Given the description of an element on the screen output the (x, y) to click on. 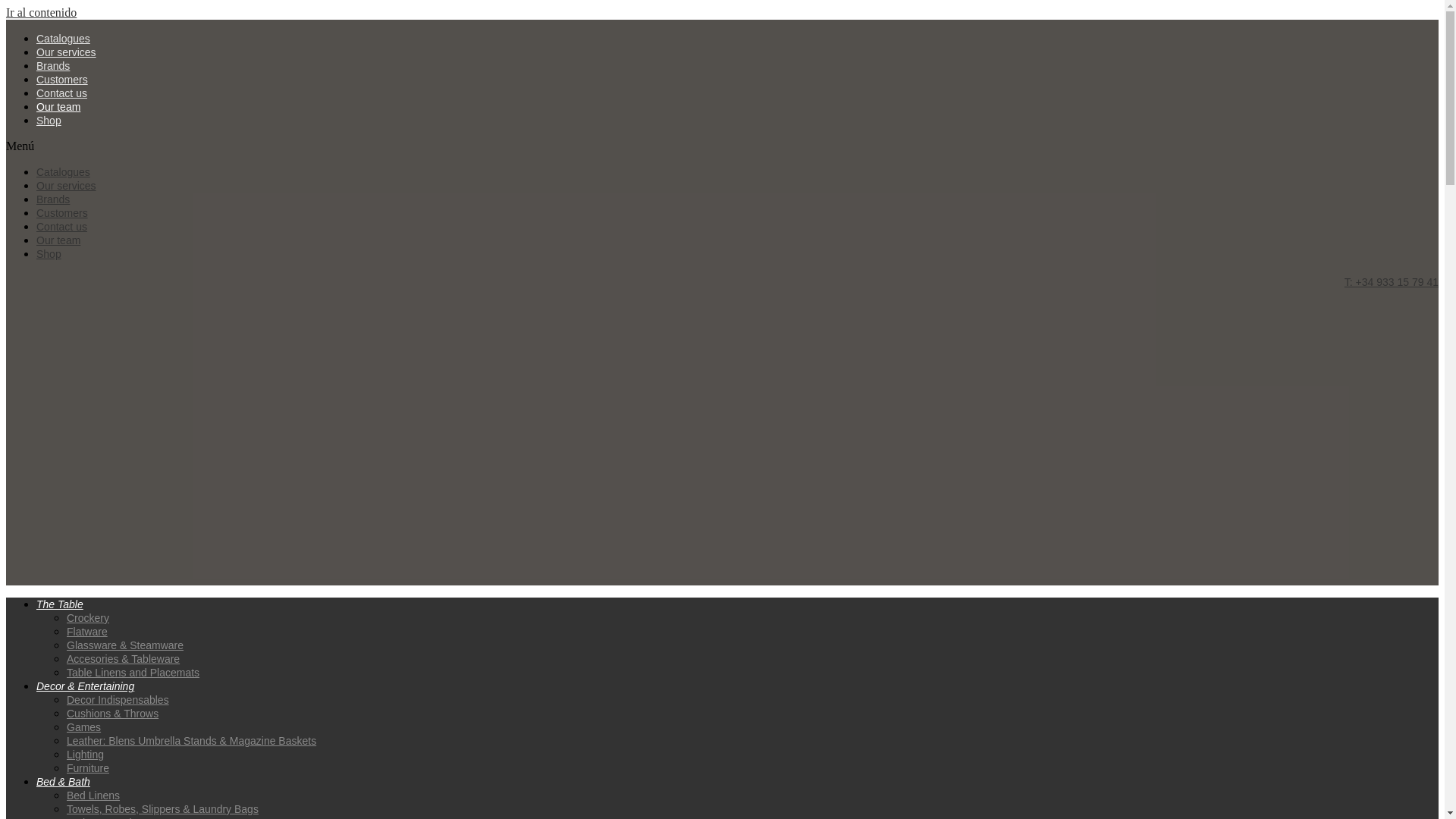
Lighting (84, 754)
Customers (61, 79)
Our team (58, 240)
Games (83, 727)
Crockery (87, 617)
Brands (52, 65)
Ir al contenido (41, 11)
Catalogues (63, 38)
Shop (48, 120)
The Table (59, 604)
Bath Accesories (104, 817)
Brands (52, 199)
Decor Indispensables (117, 699)
Flatware (86, 631)
Our services (66, 185)
